Given the description of an element on the screen output the (x, y) to click on. 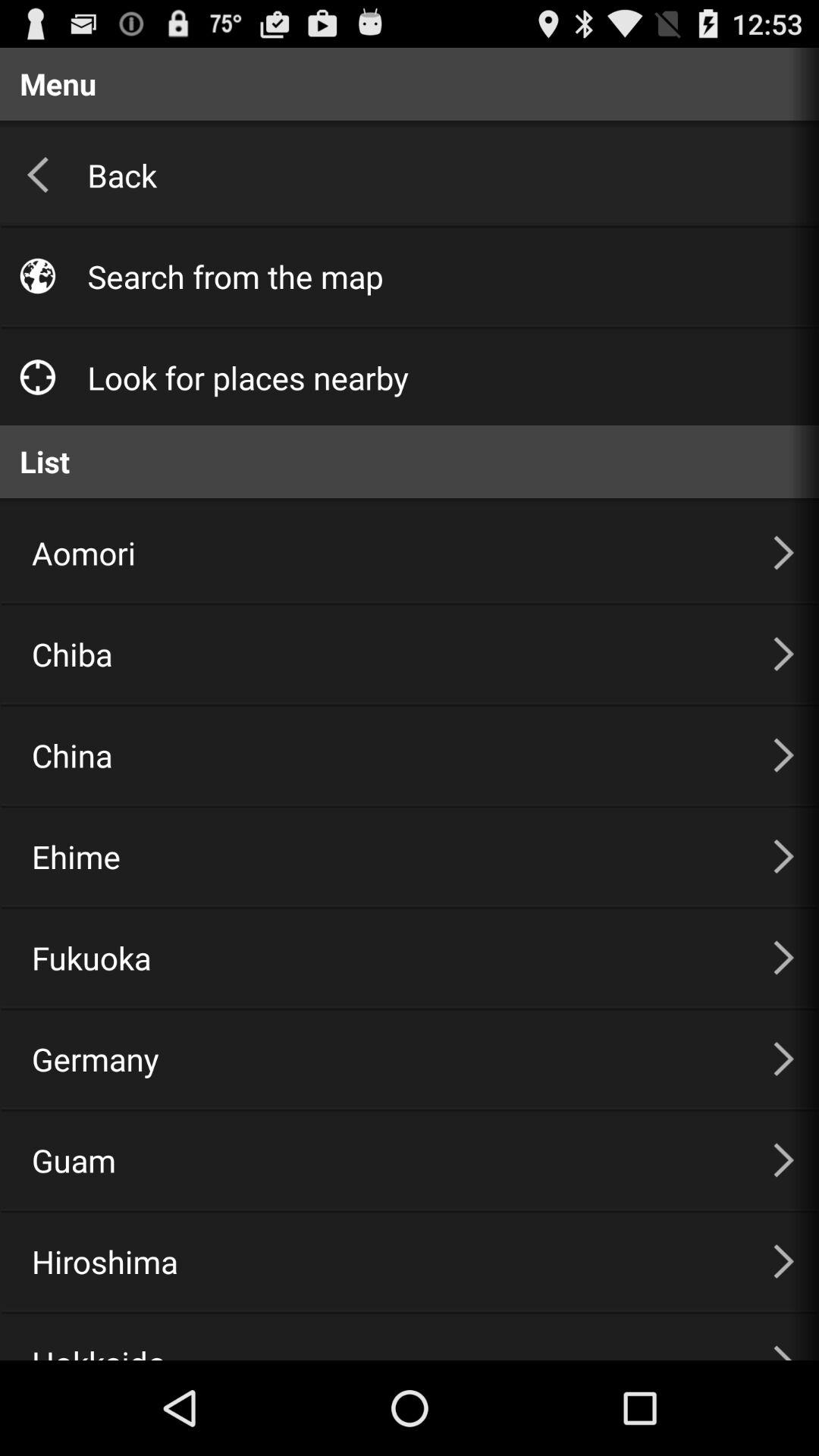
swipe until the guam icon (384, 1160)
